Given the description of an element on the screen output the (x, y) to click on. 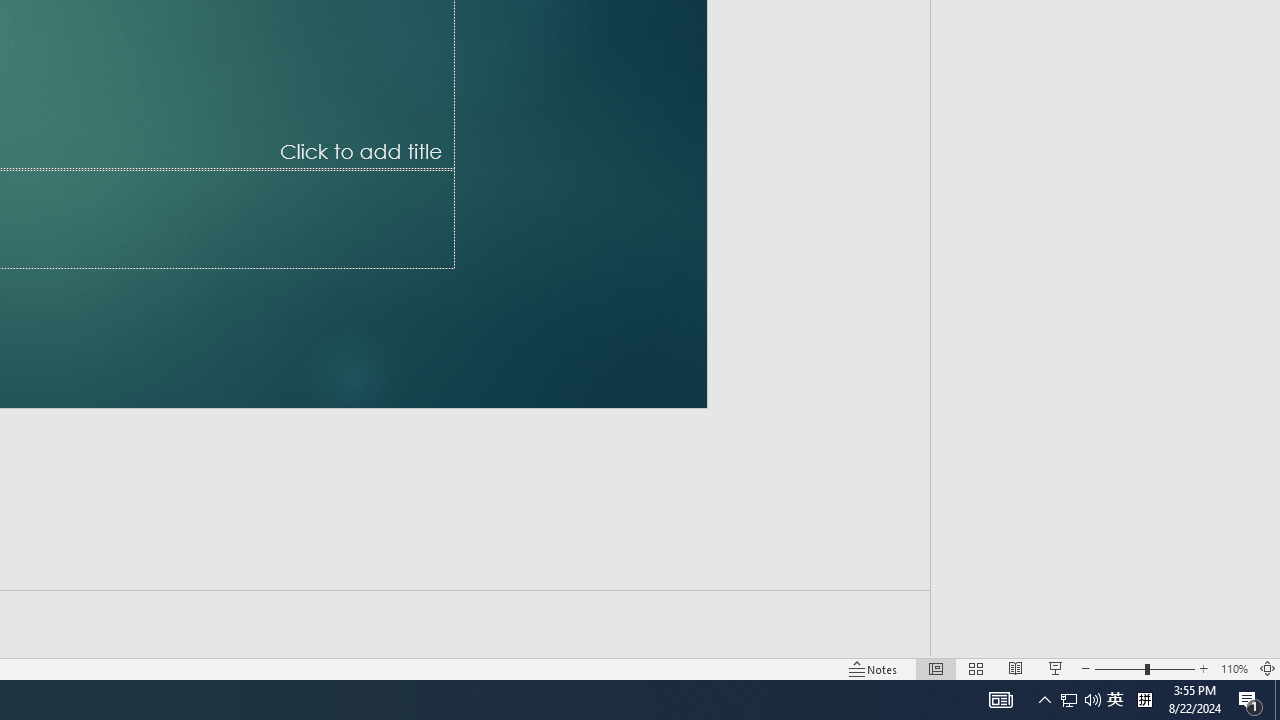
Zoom 110% (1234, 668)
